Given the description of an element on the screen output the (x, y) to click on. 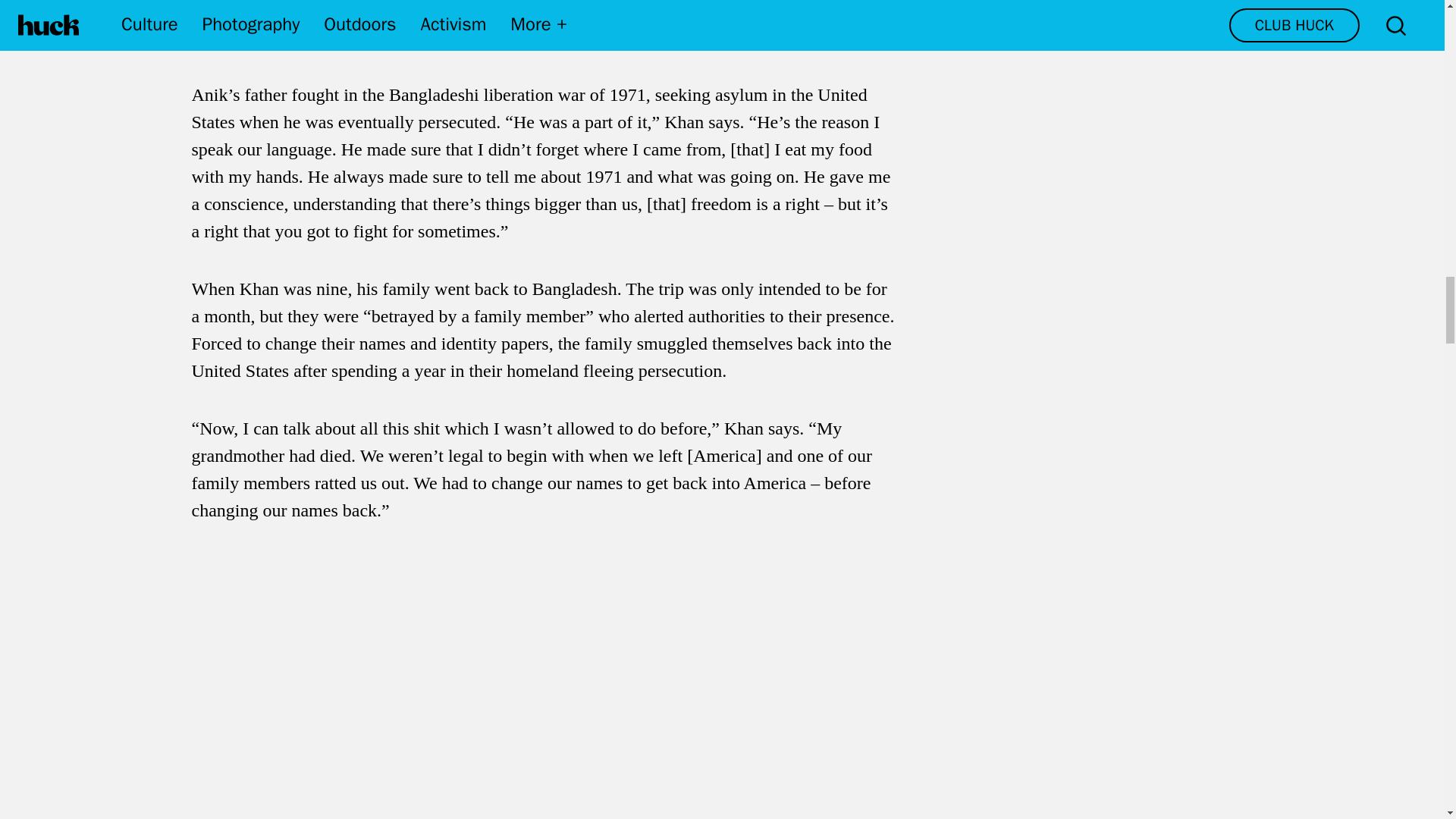
YouTube video player (402, 673)
